Given the description of an element on the screen output the (x, y) to click on. 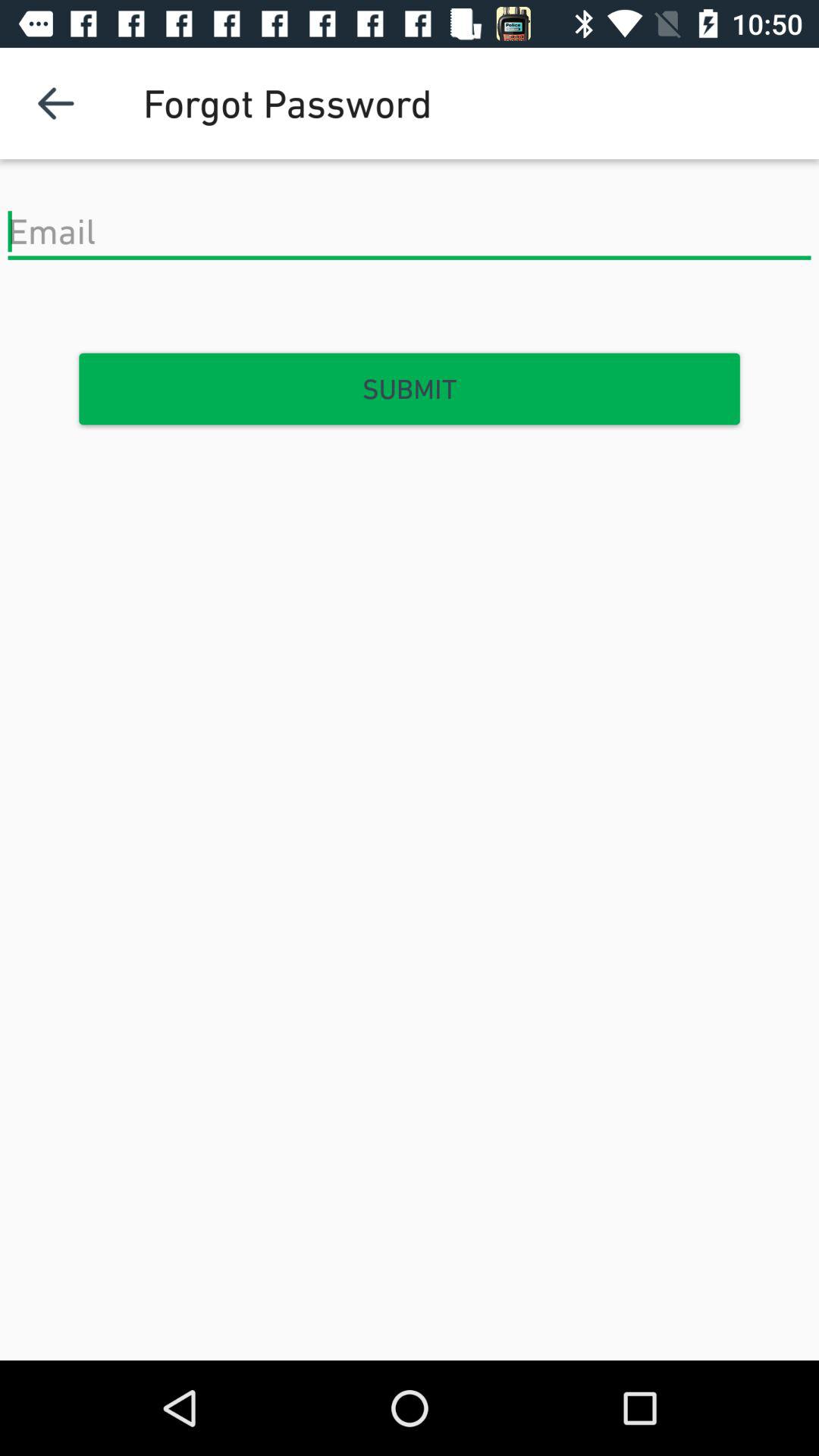
press the item to the left of the forgot password (55, 103)
